Given the description of an element on the screen output the (x, y) to click on. 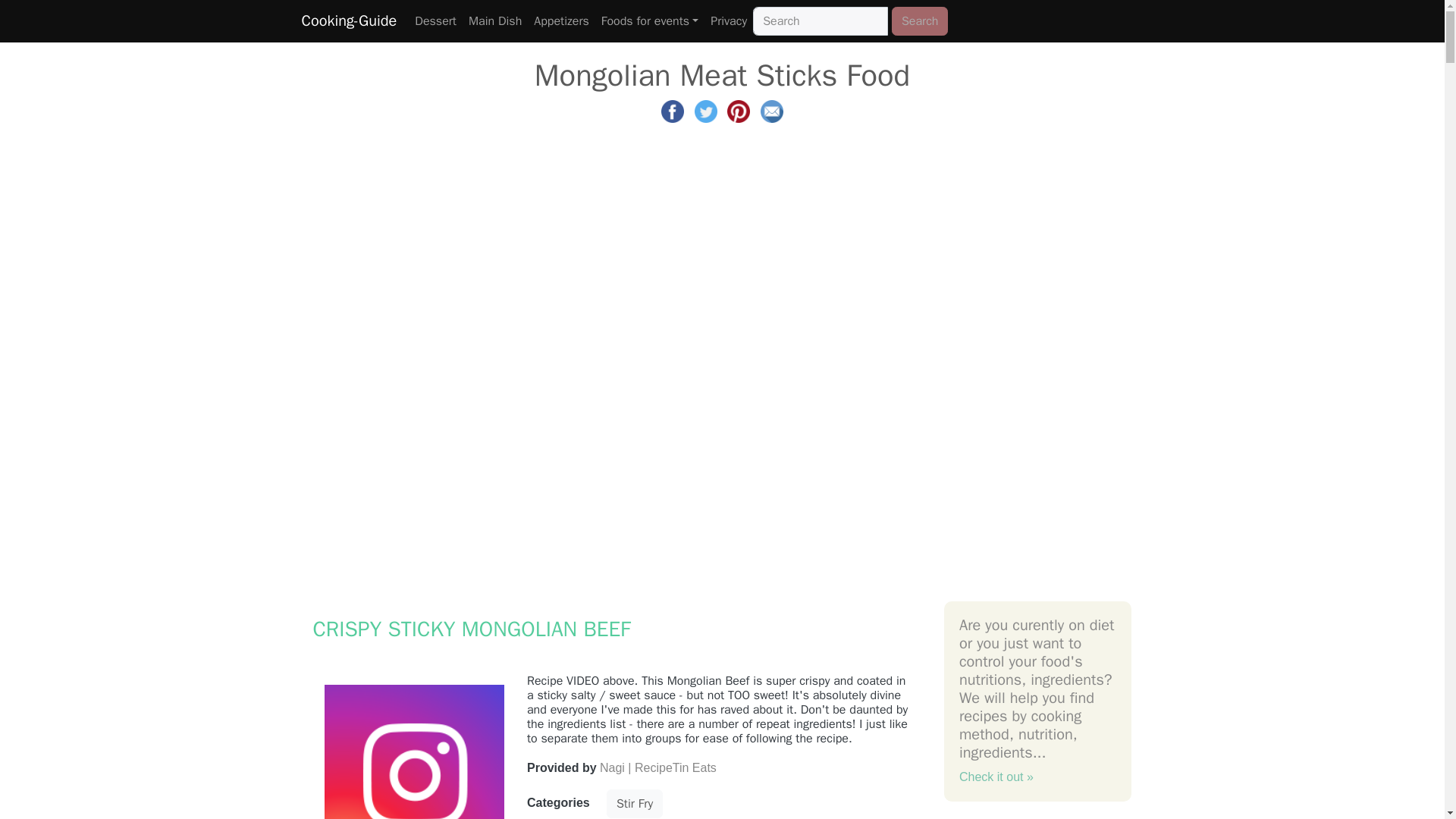
Pinterest Share (737, 110)
Facebook Share (672, 110)
Dessert (436, 20)
Main Dish (495, 20)
E-Mail Share (771, 110)
Appetizers (561, 20)
Privacy (728, 20)
Stir Fry (634, 803)
Cooking-Guide (349, 20)
Twitter Share (705, 110)
